Given the description of an element on the screen output the (x, y) to click on. 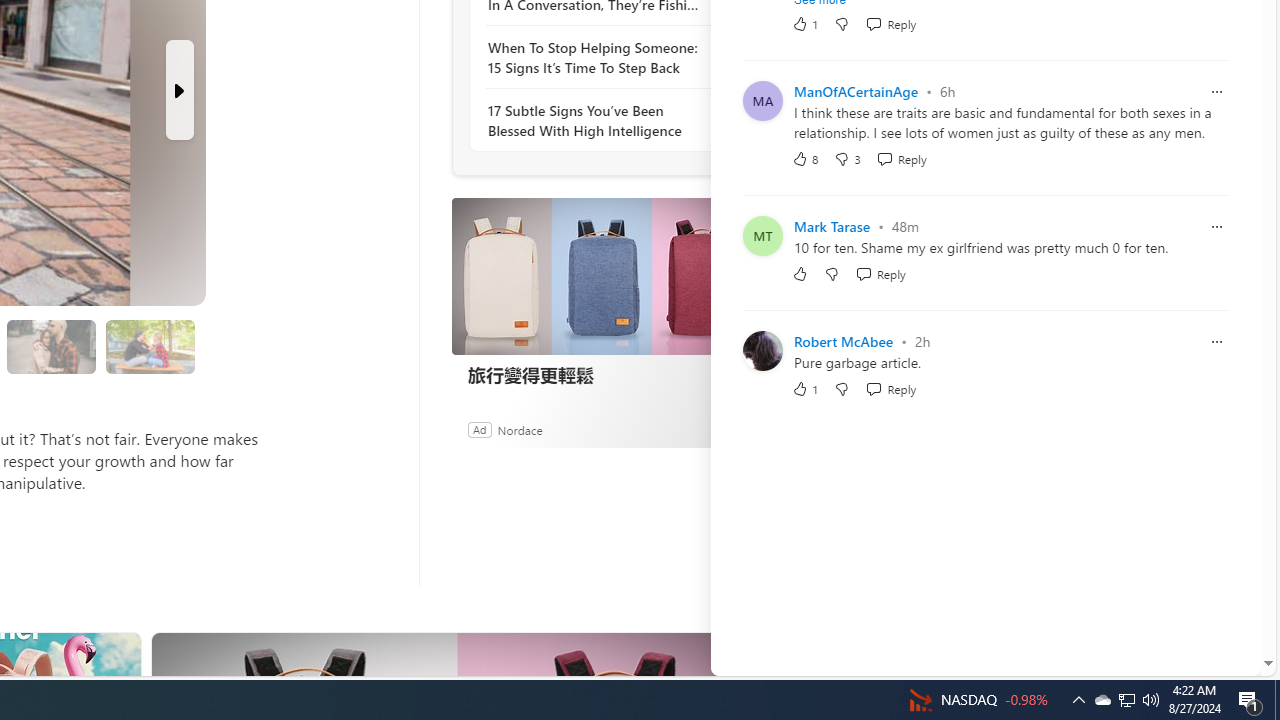
Class: progress (149, 343)
Feedback (1185, 659)
Dislike (841, 388)
Report comment (1216, 340)
1 Like (804, 388)
Reply Reply Comment (891, 388)
Profile Picture (762, 349)
ManOfACertainAge (856, 91)
Nordace (519, 429)
Profile Picture (762, 349)
Robert McAbee (843, 341)
